Given the description of an element on the screen output the (x, y) to click on. 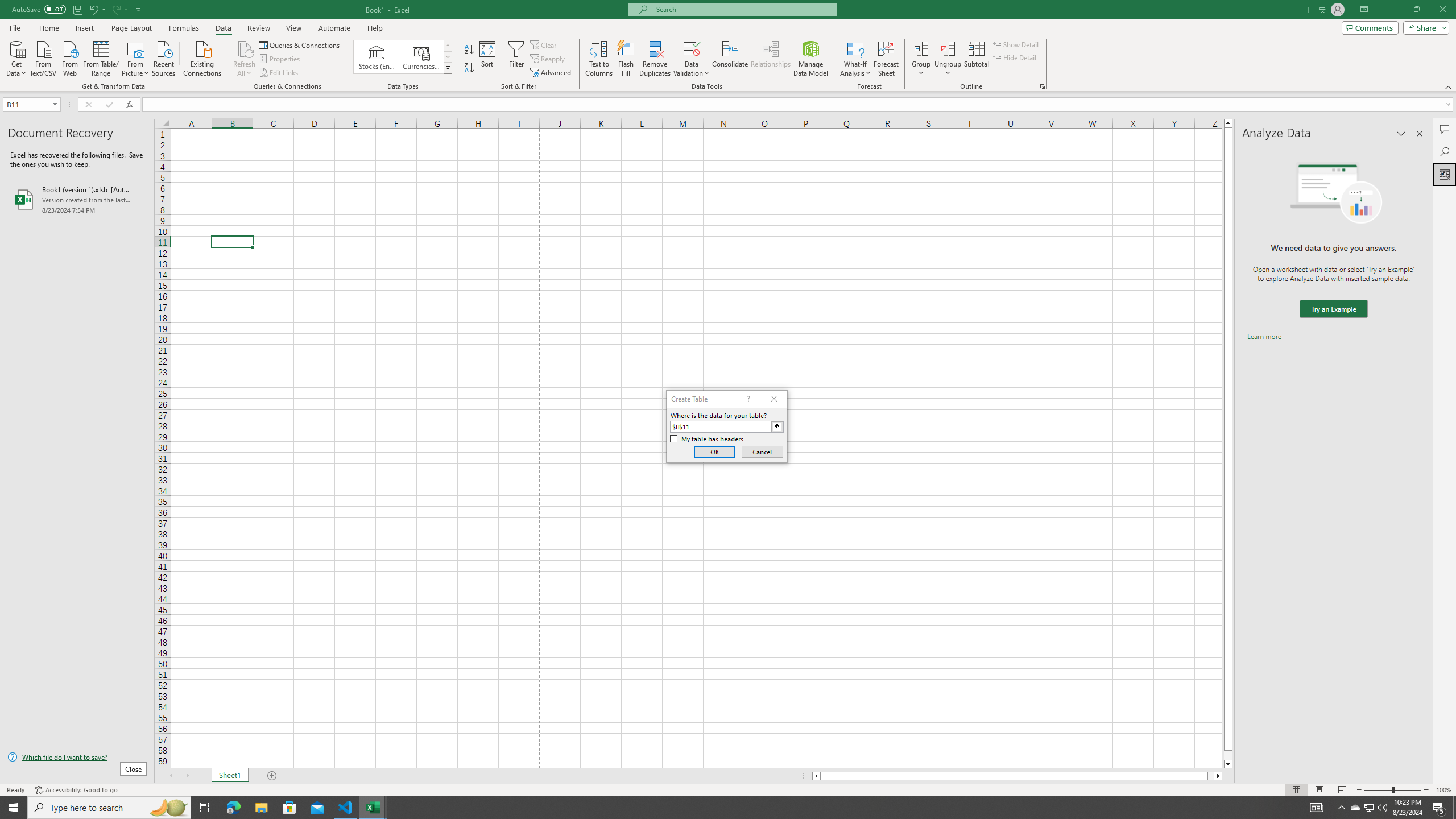
Subtotal (976, 58)
Data Types (448, 67)
